Given the description of an element on the screen output the (x, y) to click on. 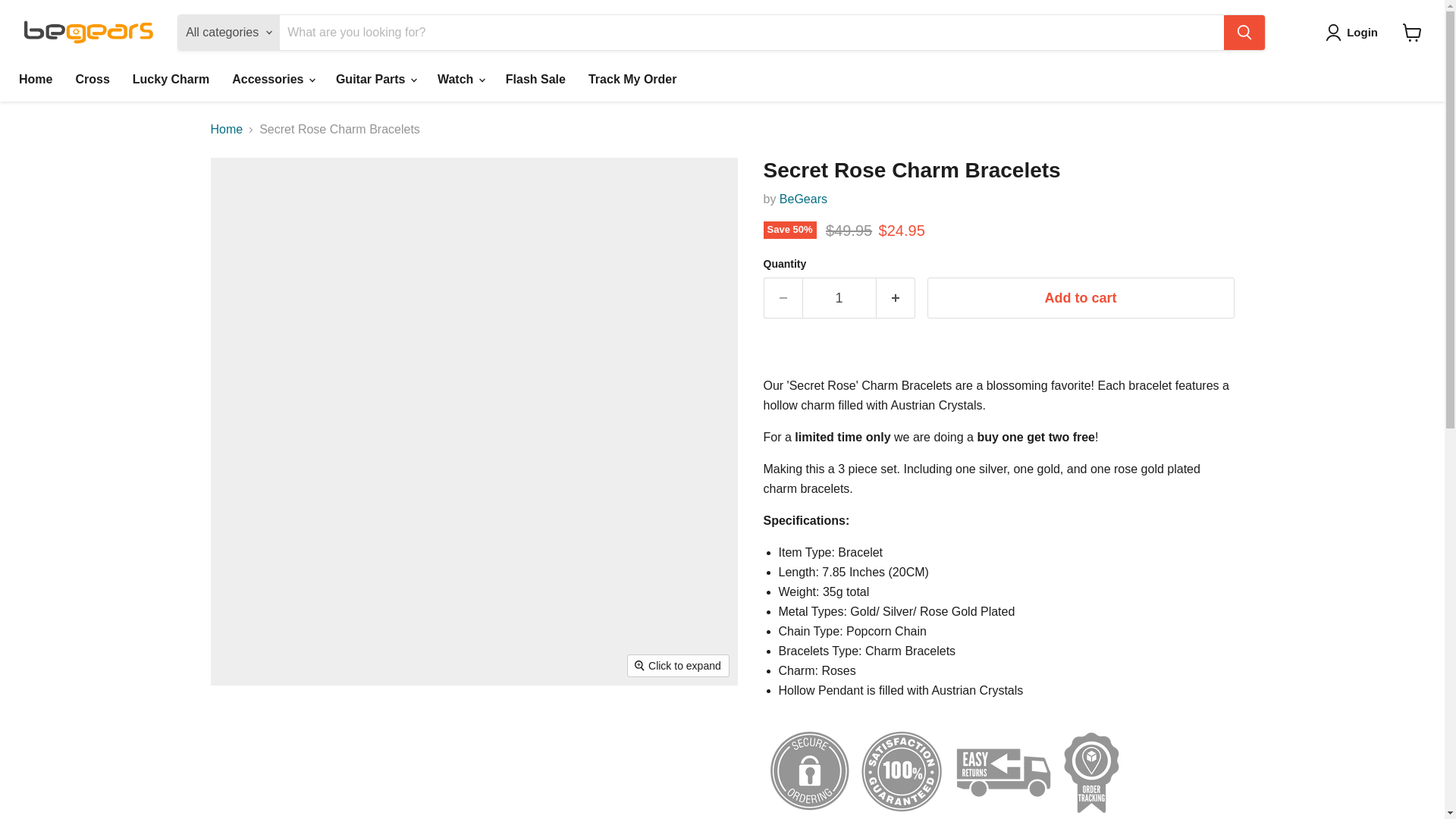
Track My Order (632, 79)
Home (35, 79)
View cart (1411, 32)
Lucky Charm (170, 79)
Login (1354, 32)
BeGears (802, 198)
1 (839, 298)
Cross (92, 79)
Flash Sale (535, 79)
